Given the description of an element on the screen output the (x, y) to click on. 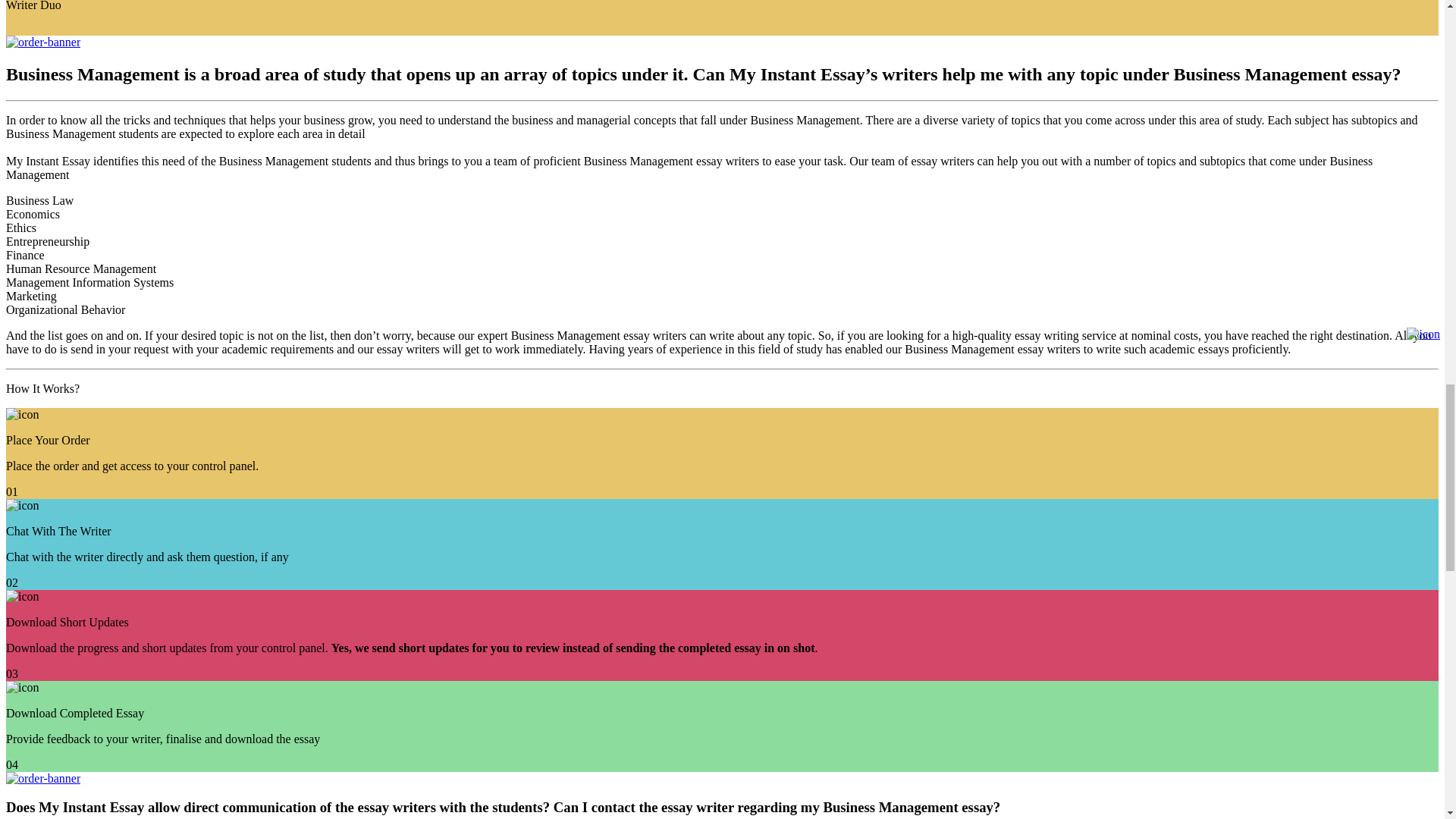
Order Now (42, 778)
Order Now (42, 42)
